Given the description of an element on the screen output the (x, y) to click on. 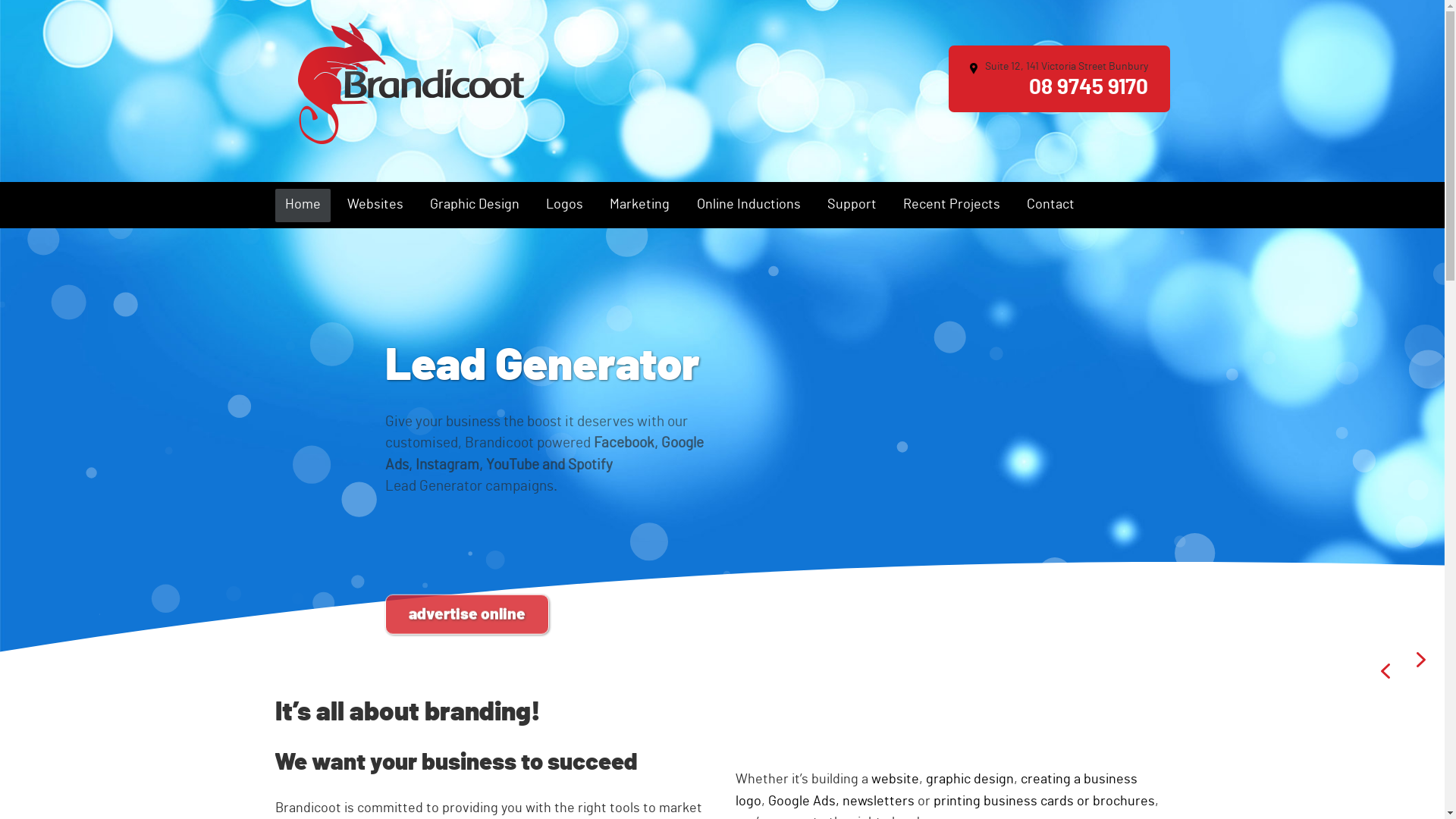
Logos Element type: text (564, 205)
what's included Element type: text (465, 544)
Google Ads, Element type: text (803, 801)
Suite 12, 141 Victoria Street Bunbury Element type: text (1058, 66)
Marketing Element type: text (639, 205)
Our Websites Element type: text (473, 366)
printing business cards or brochures Element type: text (1043, 801)
Support Element type: text (851, 205)
Online Inductions Element type: text (747, 205)
creating a business logo Element type: text (936, 790)
newsletters Element type: text (878, 801)
Contact Element type: text (1050, 205)
website Element type: text (895, 779)
08 9745 9170 Element type: text (1088, 90)
Home Element type: text (301, 205)
Websites Element type: text (375, 205)
graphic design Element type: text (969, 779)
Recent Projects Element type: text (951, 205)
Graphic Design Element type: text (474, 205)
